Given the description of an element on the screen output the (x, y) to click on. 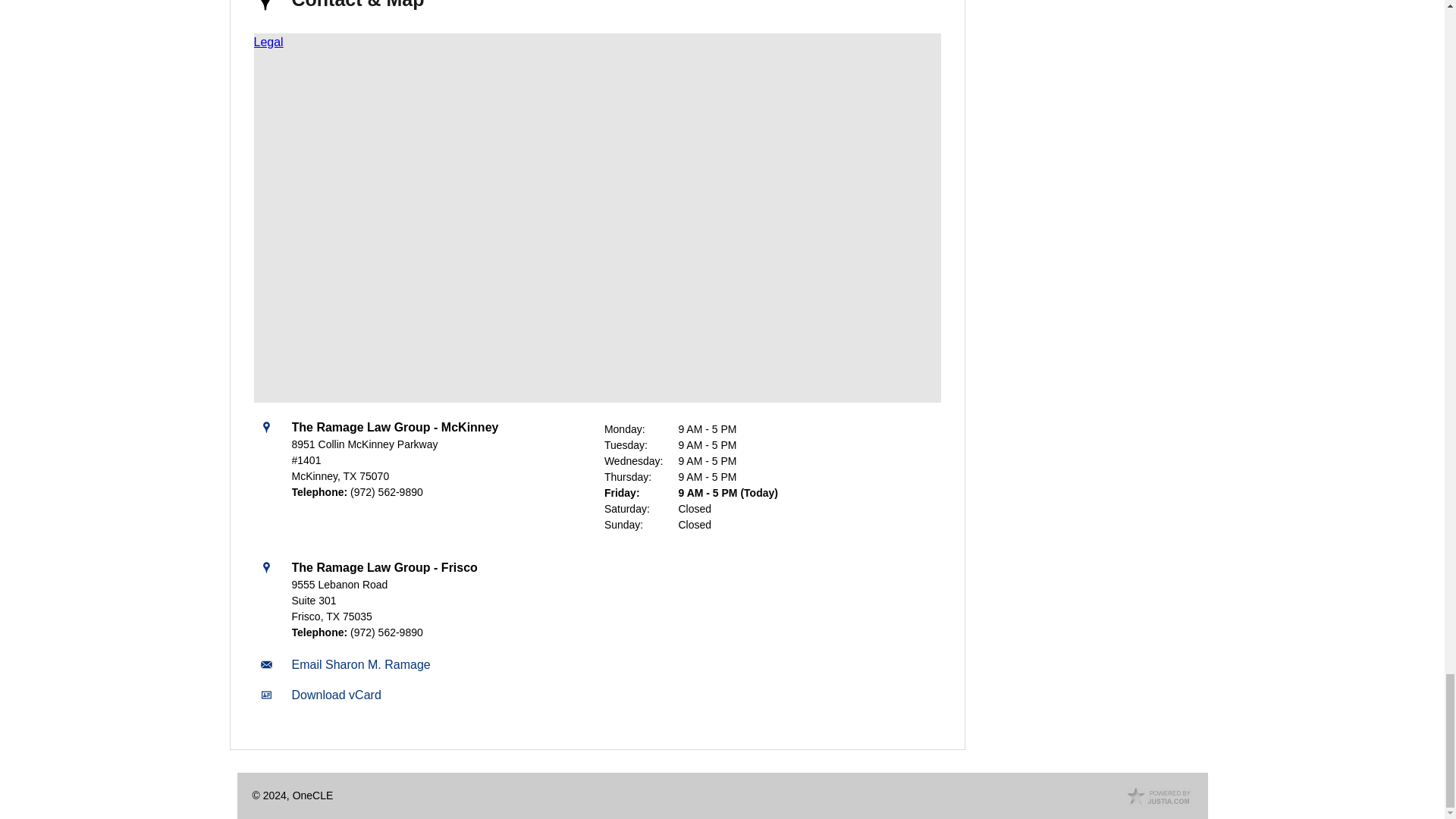
Download vCard (335, 694)
Email Sharon M. Ramage (360, 664)
